Given the description of an element on the screen output the (x, y) to click on. 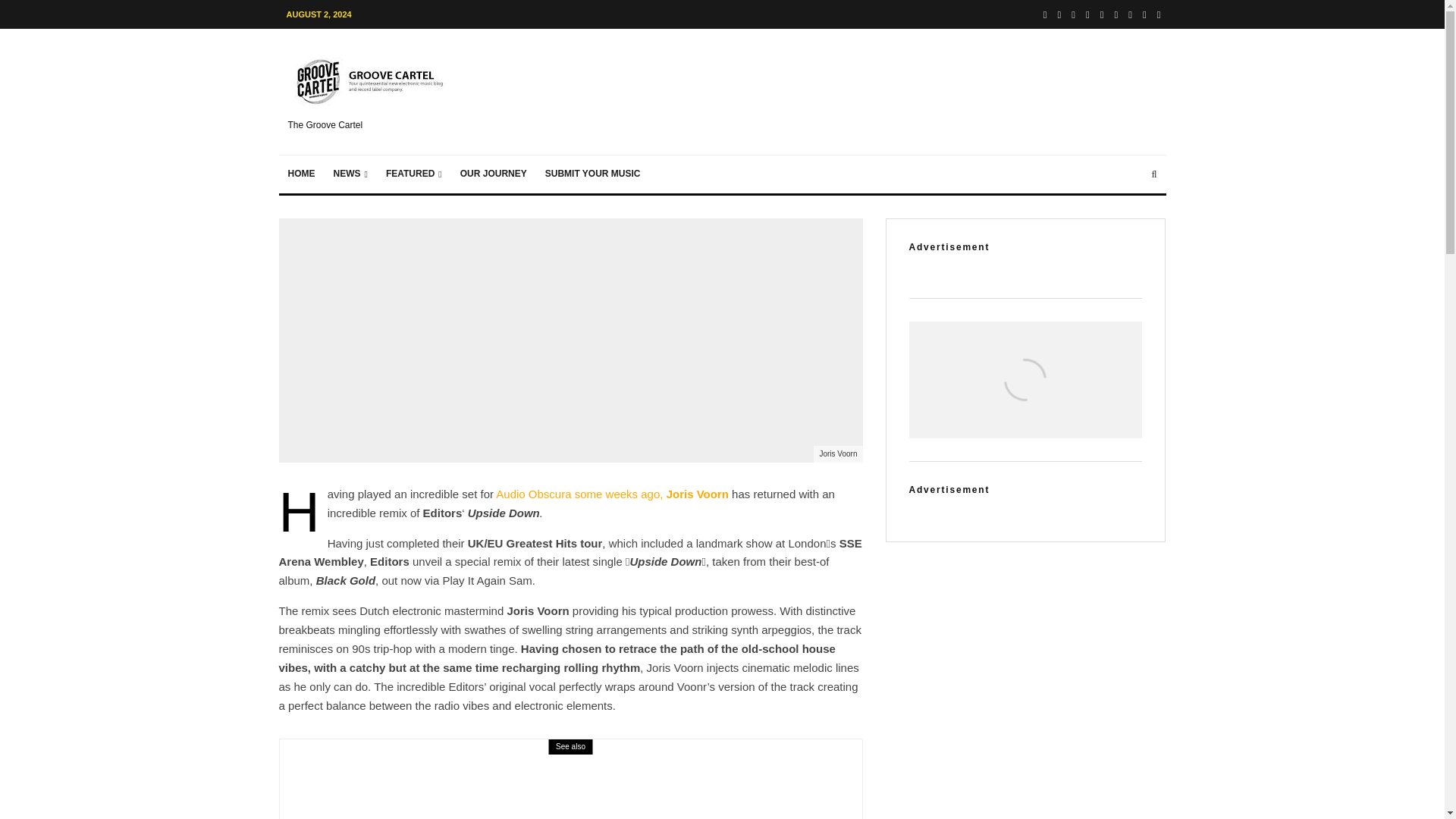
OUR JOURNEY (493, 174)
NEWS (350, 174)
The Groove Cartel (371, 91)
HOME (301, 174)
FEATURED (414, 174)
